Given the description of an element on the screen output the (x, y) to click on. 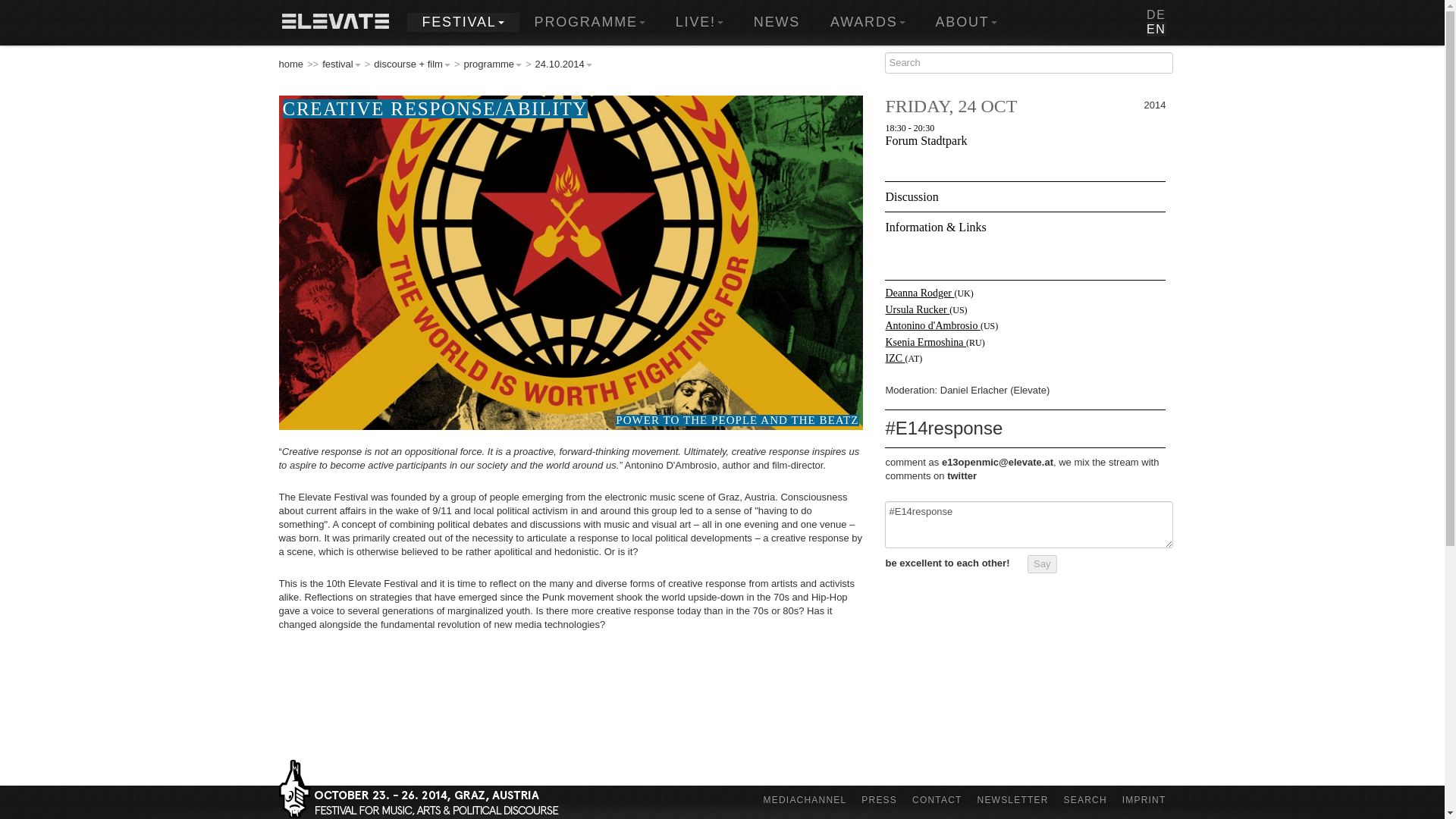
Home (335, 22)
Festival (462, 22)
PROGRAMME (590, 22)
AWARDS (867, 22)
LIVE! (699, 22)
NEWS (776, 22)
Say (1042, 564)
FESTIVAL (462, 22)
